Given the description of an element on the screen output the (x, y) to click on. 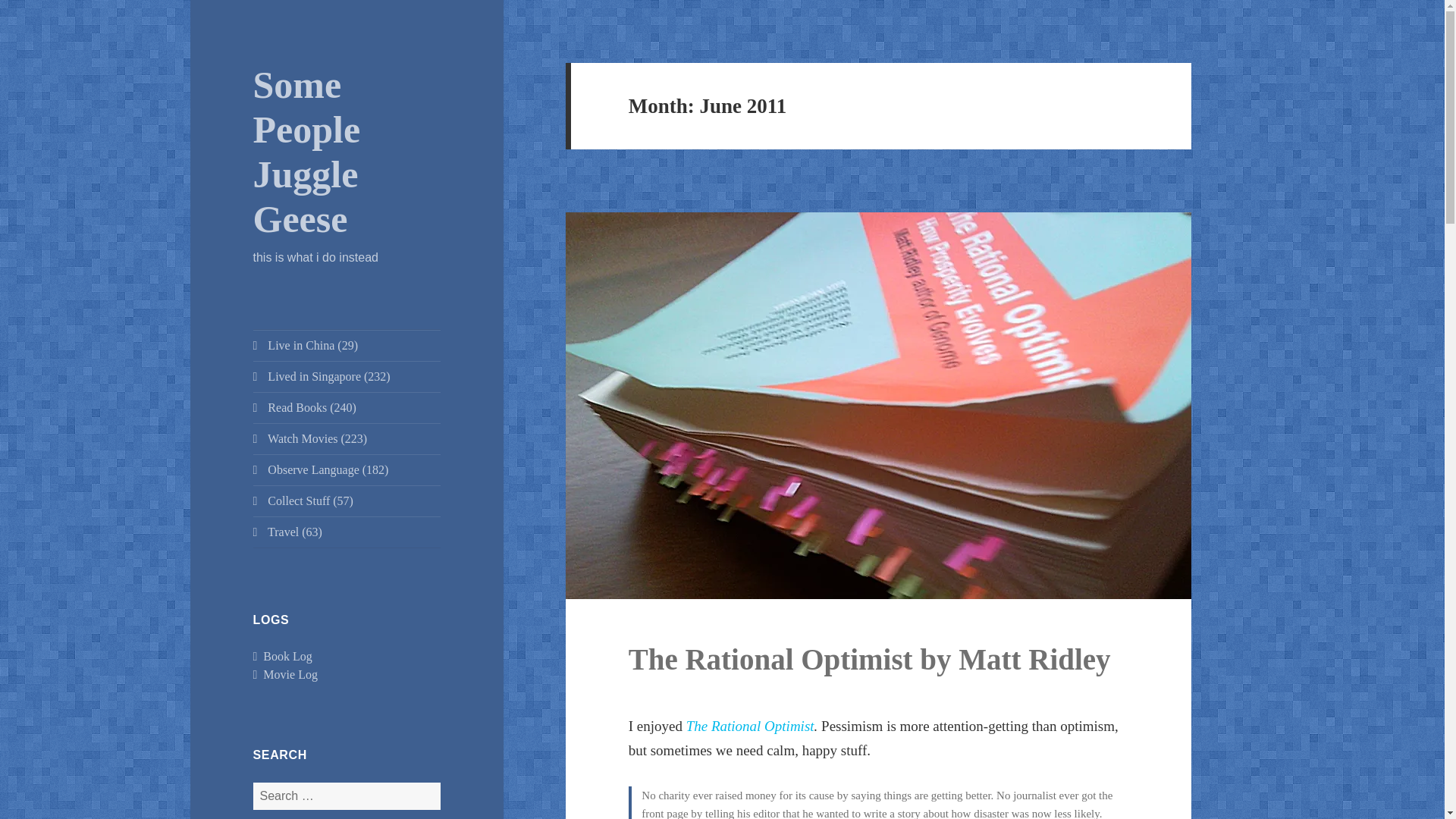
  Movie Log (285, 674)
  Book Log (283, 656)
